Given the description of an element on the screen output the (x, y) to click on. 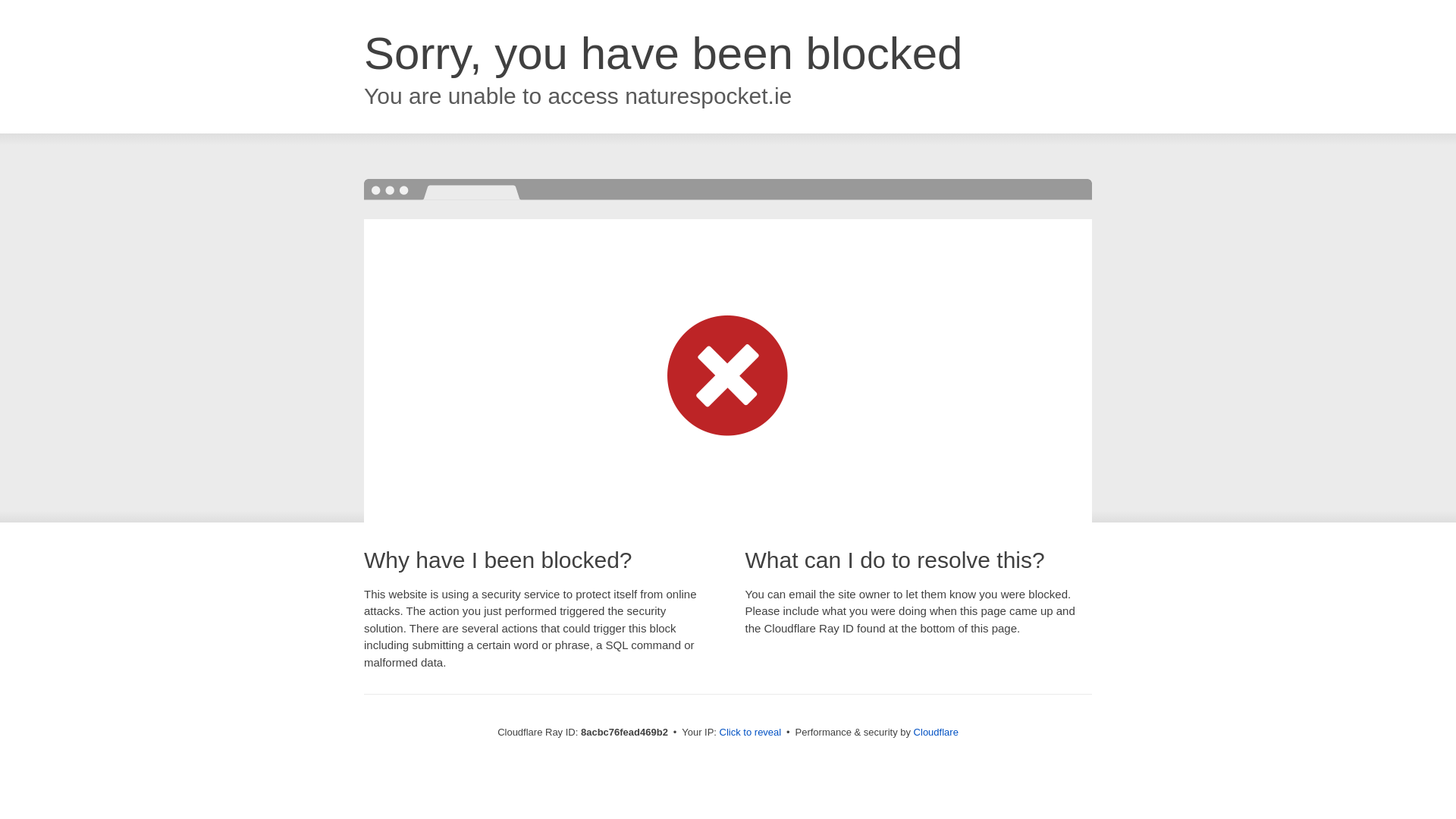
Cloudflare (936, 731)
Click to reveal (750, 732)
